Given the description of an element on the screen output the (x, y) to click on. 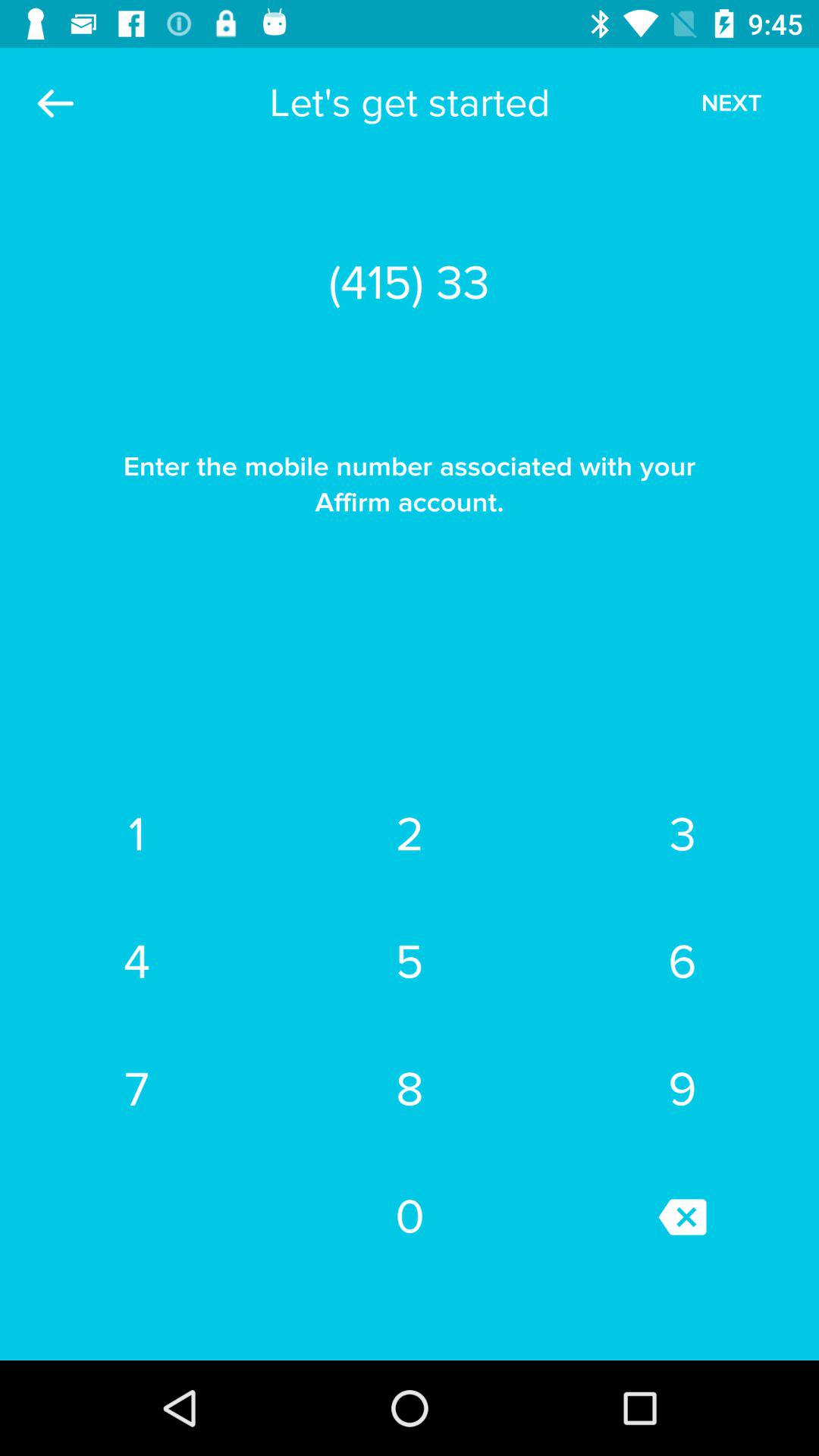
turn on the item to the right of 8 item (682, 1216)
